Given the description of an element on the screen output the (x, y) to click on. 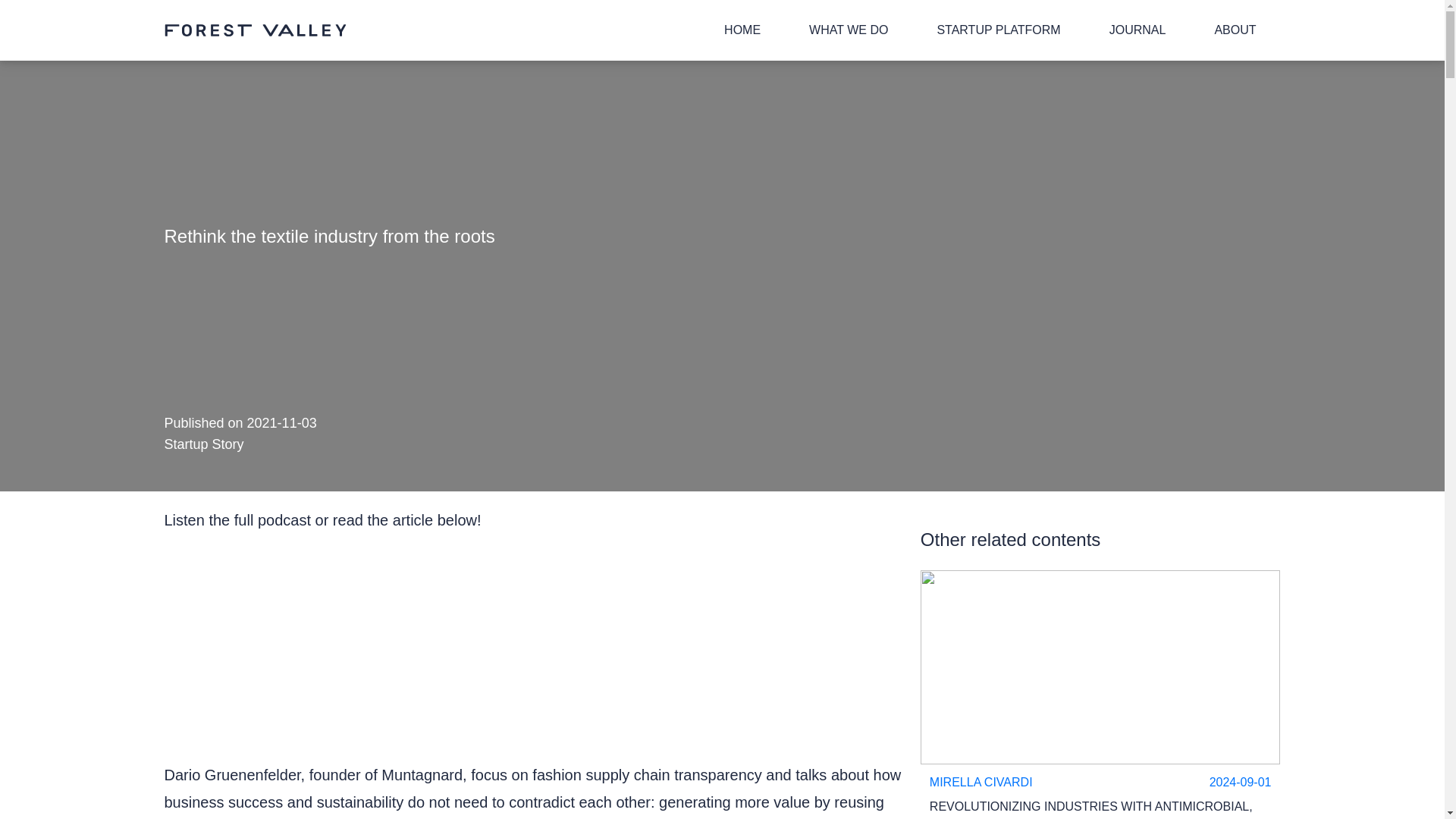
ABOUT (1234, 30)
HOME (742, 30)
JOURNAL (1137, 30)
STARTUP PLATFORM (998, 30)
